Given the description of an element on the screen output the (x, y) to click on. 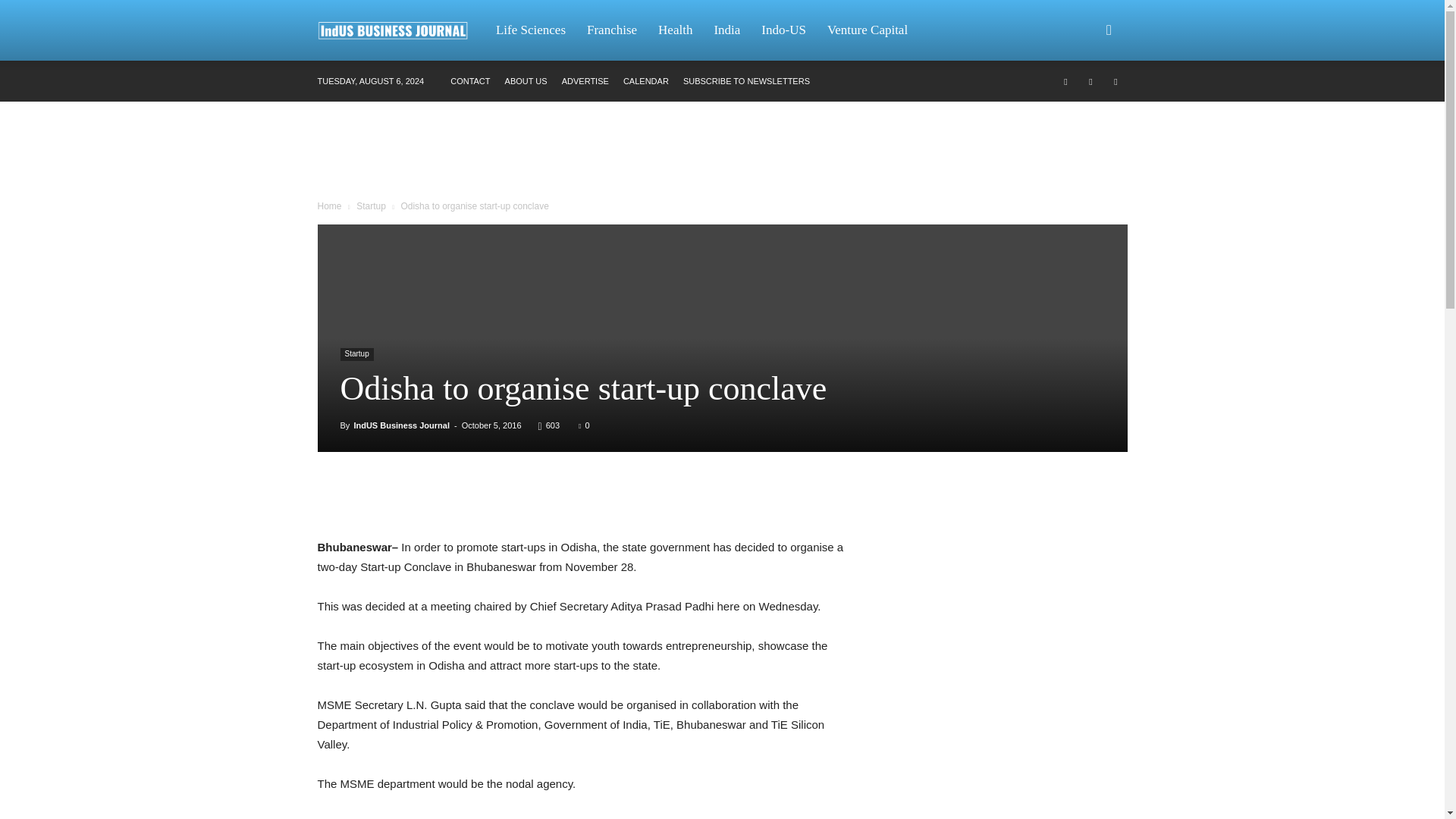
CALENDAR (645, 80)
Advertisement (721, 153)
Life Sciences (530, 30)
ADVERTISE (585, 80)
Startup (370, 205)
View all posts in Startup (370, 205)
Venture Capital (867, 30)
SUBSCRIBE TO NEWSLETTERS (745, 80)
IndUS Business Journal (400, 30)
Health (675, 30)
